Given the description of an element on the screen output the (x, y) to click on. 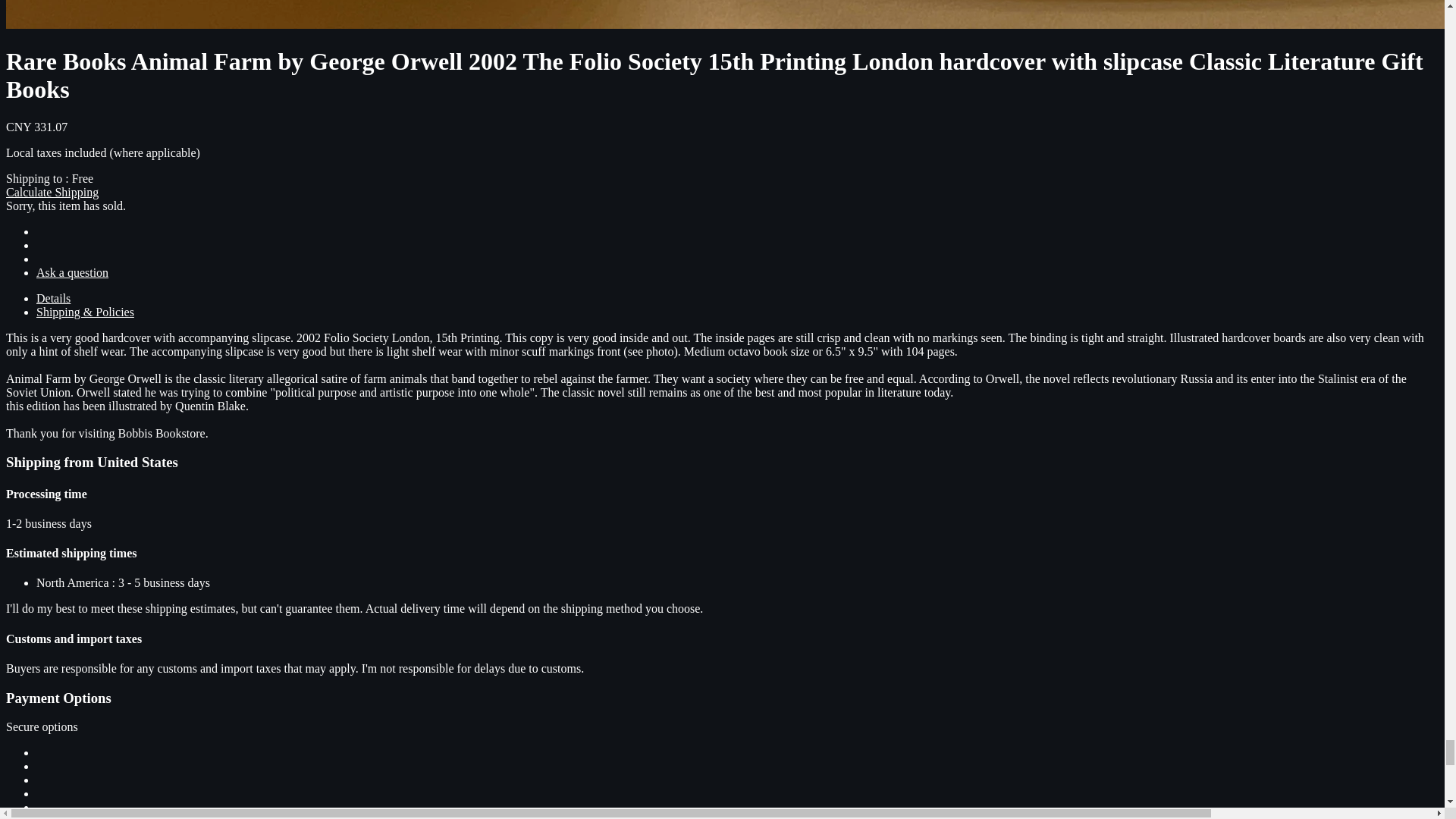
Details (52, 298)
Ask a question (71, 272)
Calculate Shipping (52, 192)
